Given the description of an element on the screen output the (x, y) to click on. 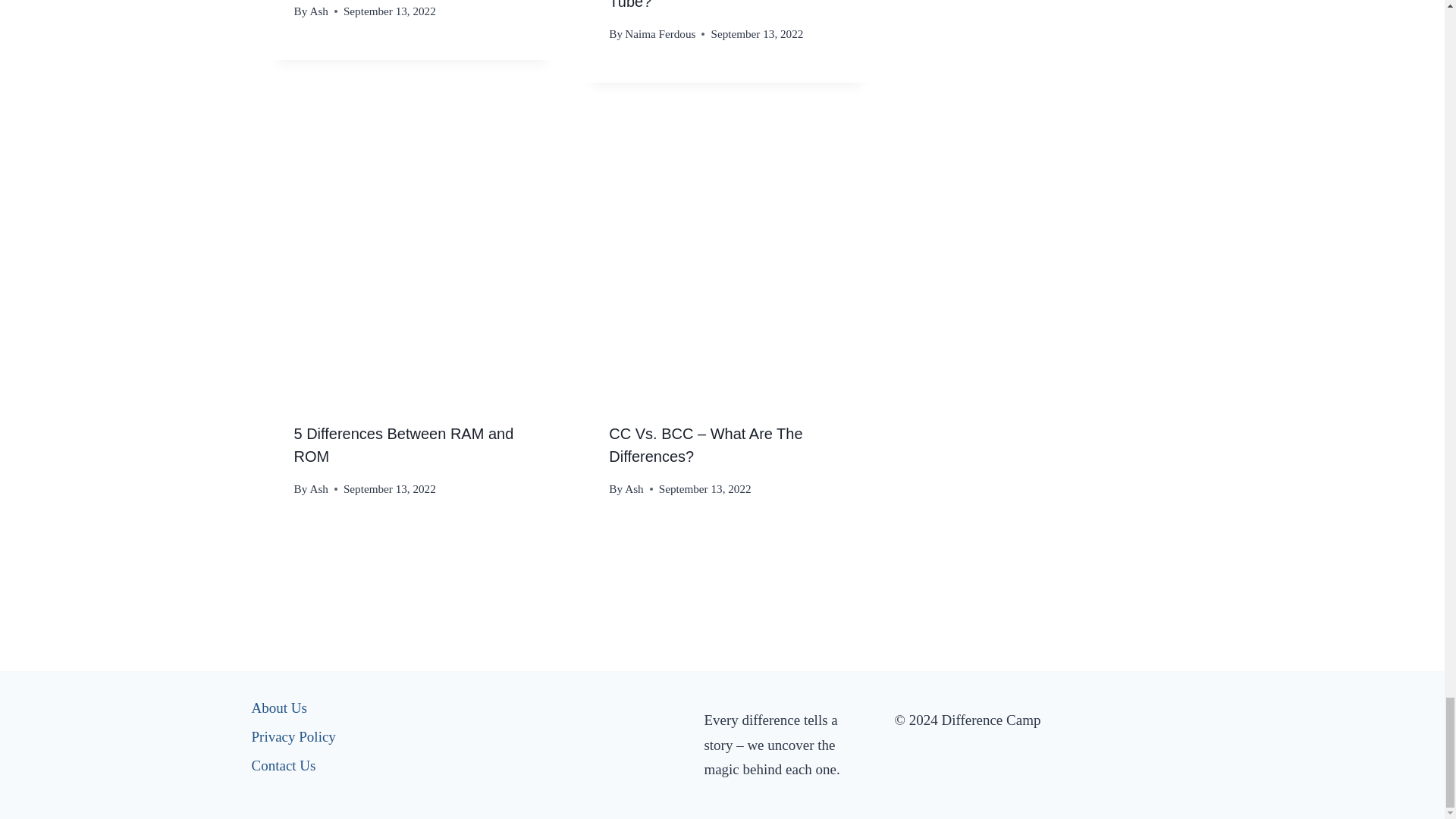
5 Differences Between RAM and ROM (403, 445)
